Given the description of an element on the screen output the (x, y) to click on. 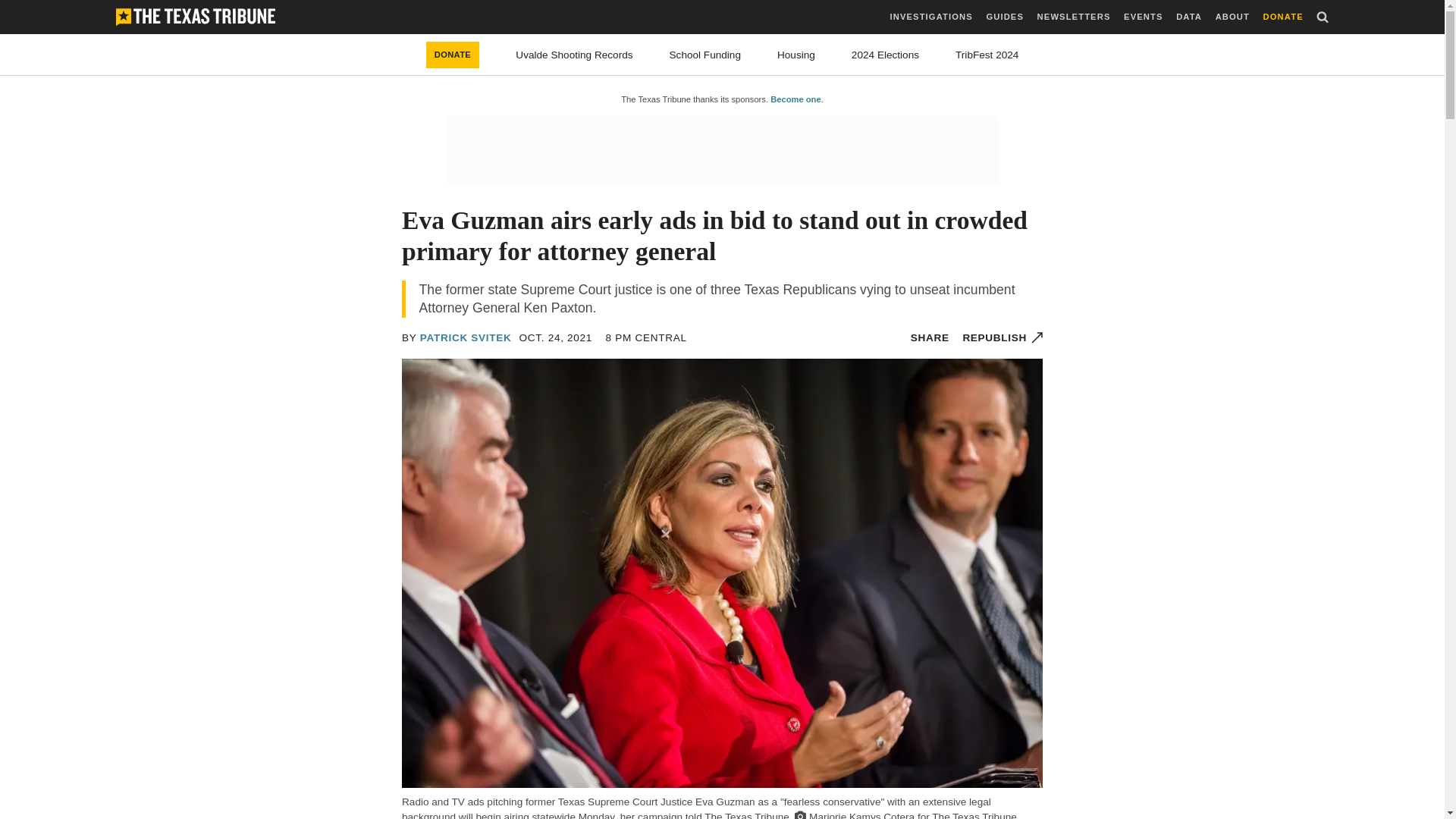
2024 Elections (884, 54)
NEWSLETTERS (1073, 17)
2021-10-24 20:00 CDT (555, 337)
REPUBLISH (1002, 337)
Become one (795, 99)
DONATE (453, 54)
INVESTIGATIONS (930, 17)
3rd party ad content (721, 150)
School Funding (705, 54)
PATRICK SVITEK (466, 337)
